Given the description of an element on the screen output the (x, y) to click on. 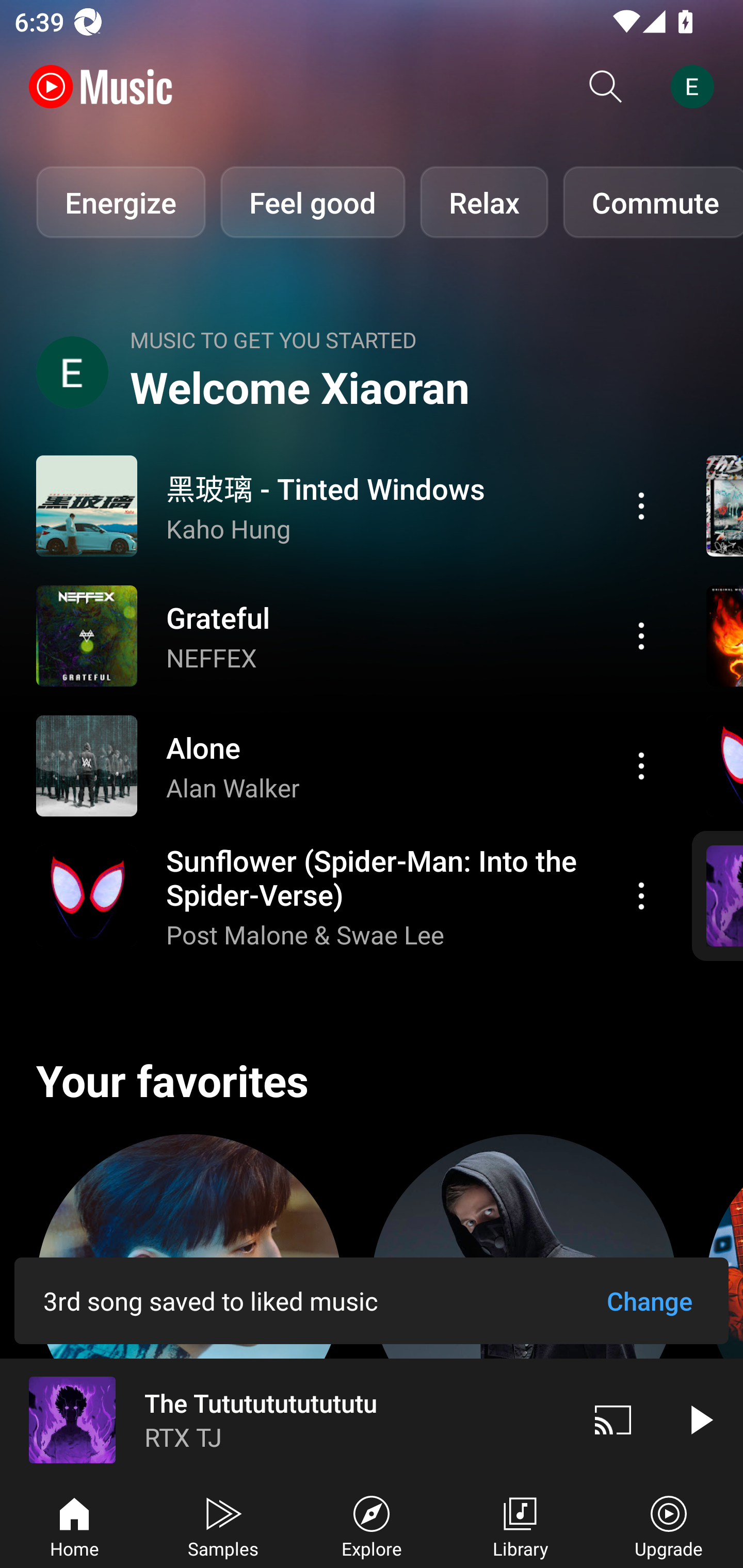
Search (605, 86)
Account (696, 86)
Action menu (349, 505)
Action menu (641, 505)
Action menu (349, 635)
Action menu (641, 635)
Action menu (349, 765)
Action menu (641, 765)
Action menu (349, 896)
Action menu (641, 896)
Change (649, 1300)
The Tutututututututu RTX TJ (284, 1419)
Cast. Disconnected (612, 1419)
Play video (699, 1419)
Home (74, 1524)
Samples (222, 1524)
Explore (371, 1524)
Library (519, 1524)
Upgrade (668, 1524)
